Given the description of an element on the screen output the (x, y) to click on. 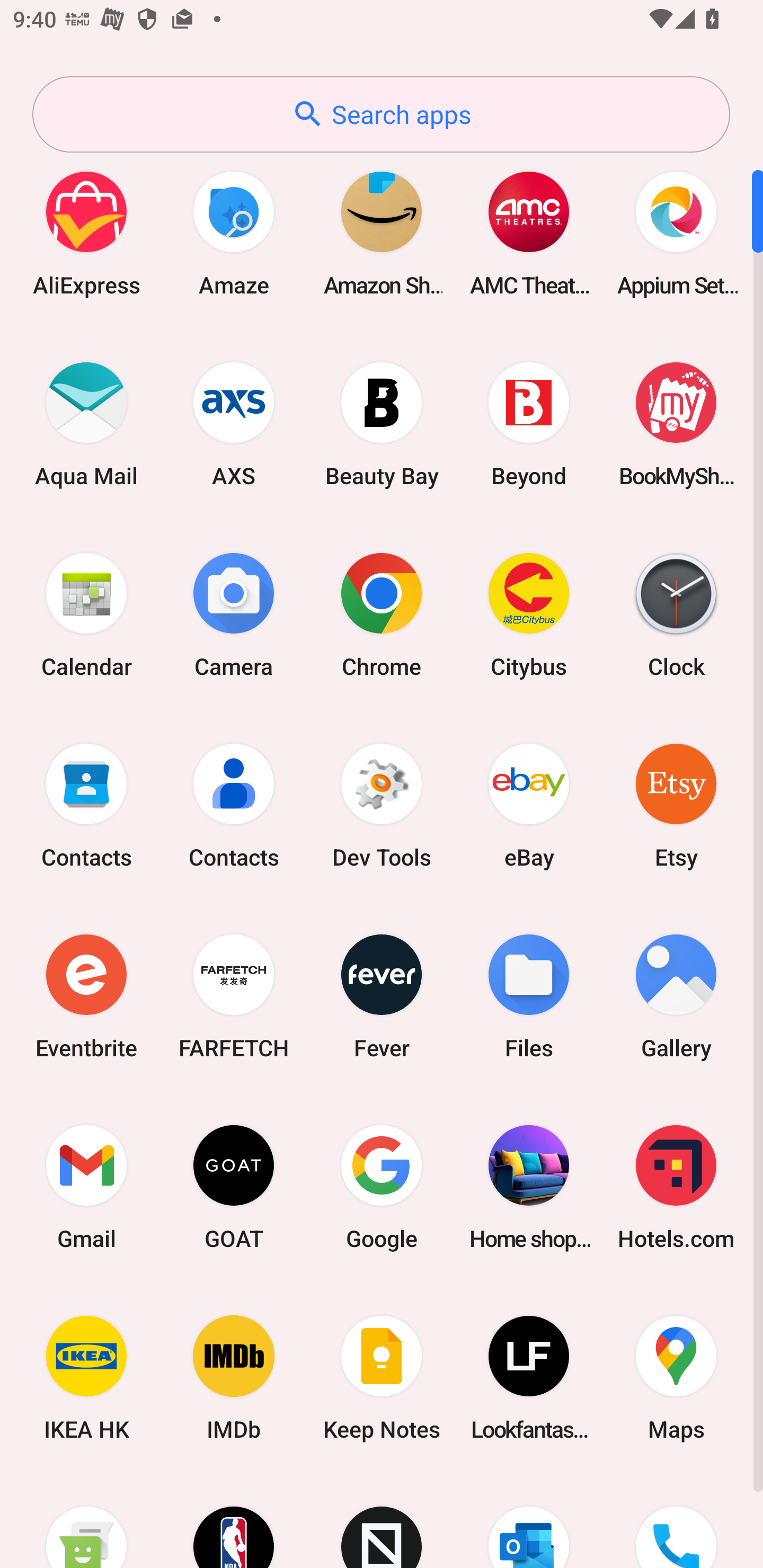
  Search apps (381, 114)
AliExpress (86, 233)
Amaze (233, 233)
Amazon Shopping (381, 233)
AMC Theatres (528, 233)
Appium Settings (676, 233)
Aqua Mail (86, 424)
AXS (233, 424)
Beauty Bay (381, 424)
Beyond (528, 424)
BookMyShow (676, 424)
Calendar (86, 614)
Camera (233, 614)
Chrome (381, 614)
Citybus (528, 614)
Clock (676, 614)
Contacts (86, 805)
Contacts (233, 805)
Dev Tools (381, 805)
eBay (528, 805)
Etsy (676, 805)
Eventbrite (86, 996)
FARFETCH (233, 996)
Fever (381, 996)
Files (528, 996)
Gallery (676, 996)
Gmail (86, 1186)
GOAT (233, 1186)
Google (381, 1186)
Home shopping (528, 1186)
Hotels.com (676, 1186)
IKEA HK (86, 1377)
IMDb (233, 1377)
Keep Notes (381, 1377)
Lookfantastic (528, 1377)
Maps (676, 1377)
